Given the description of an element on the screen output the (x, y) to click on. 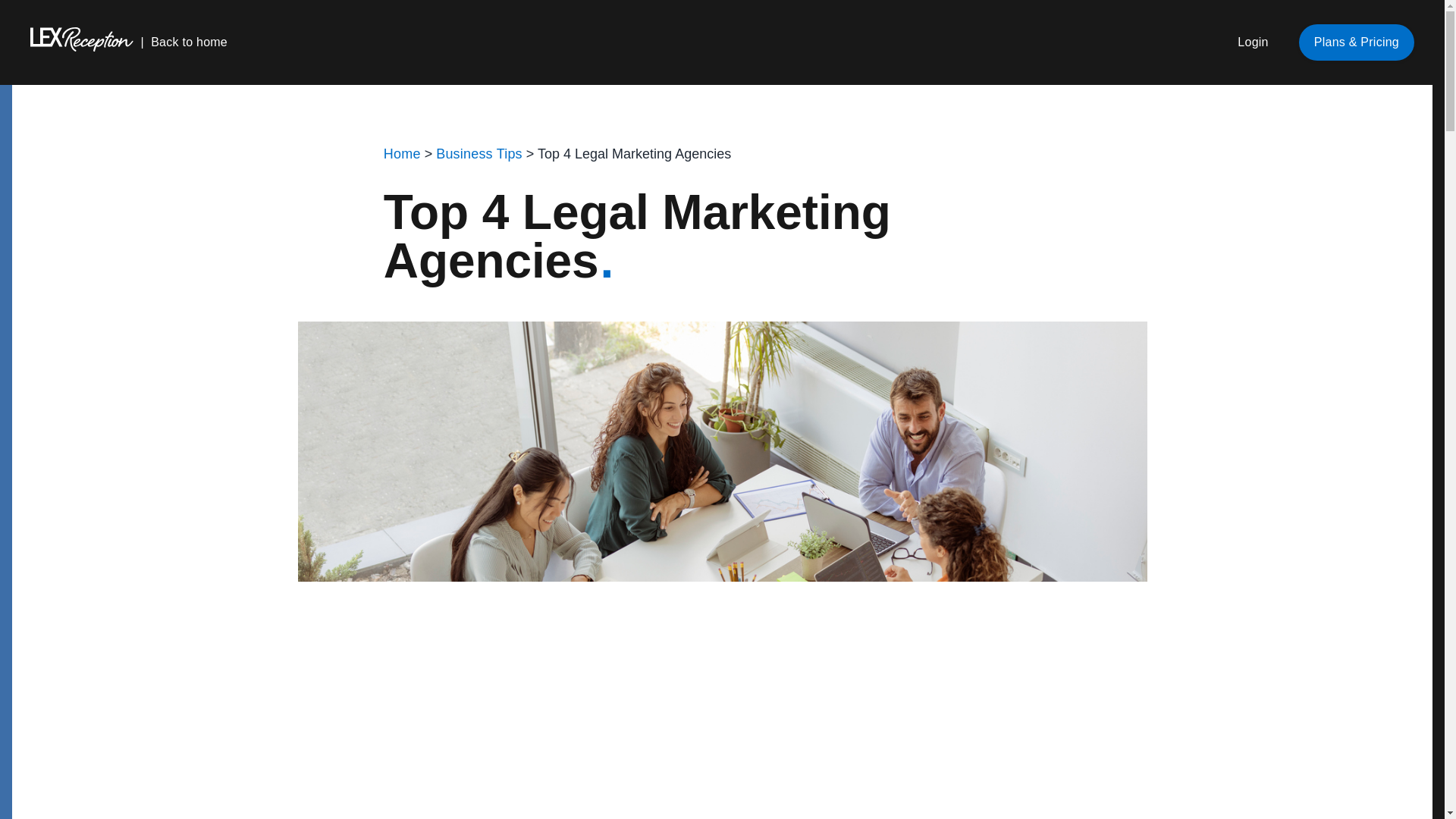
Home (402, 154)
Login (1252, 42)
LEX Reception (128, 42)
Business Tips (478, 154)
